Given the description of an element on the screen output the (x, y) to click on. 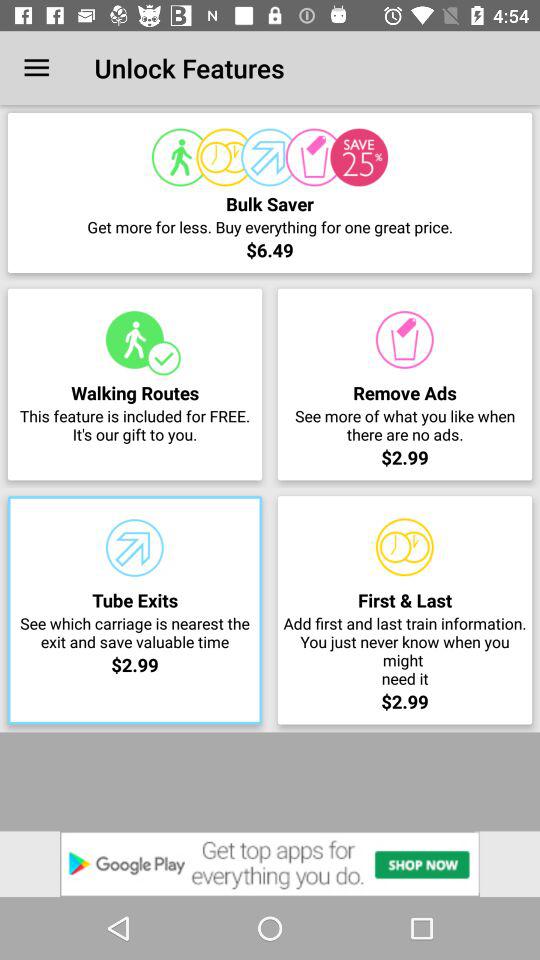
select the button below walking routes (134, 610)
